Given the description of an element on the screen output the (x, y) to click on. 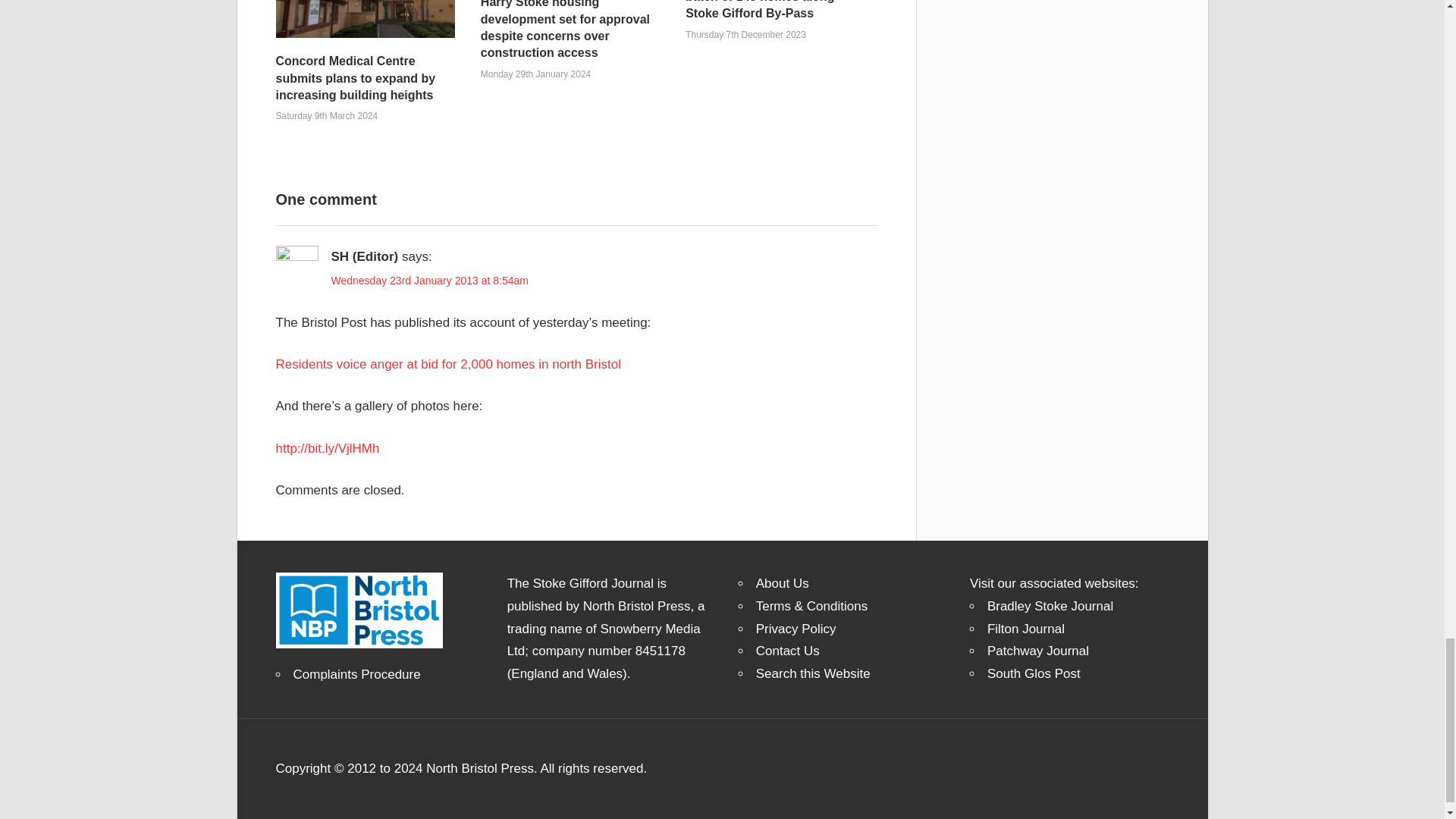
6:19pm (327, 115)
